Given the description of an element on the screen output the (x, y) to click on. 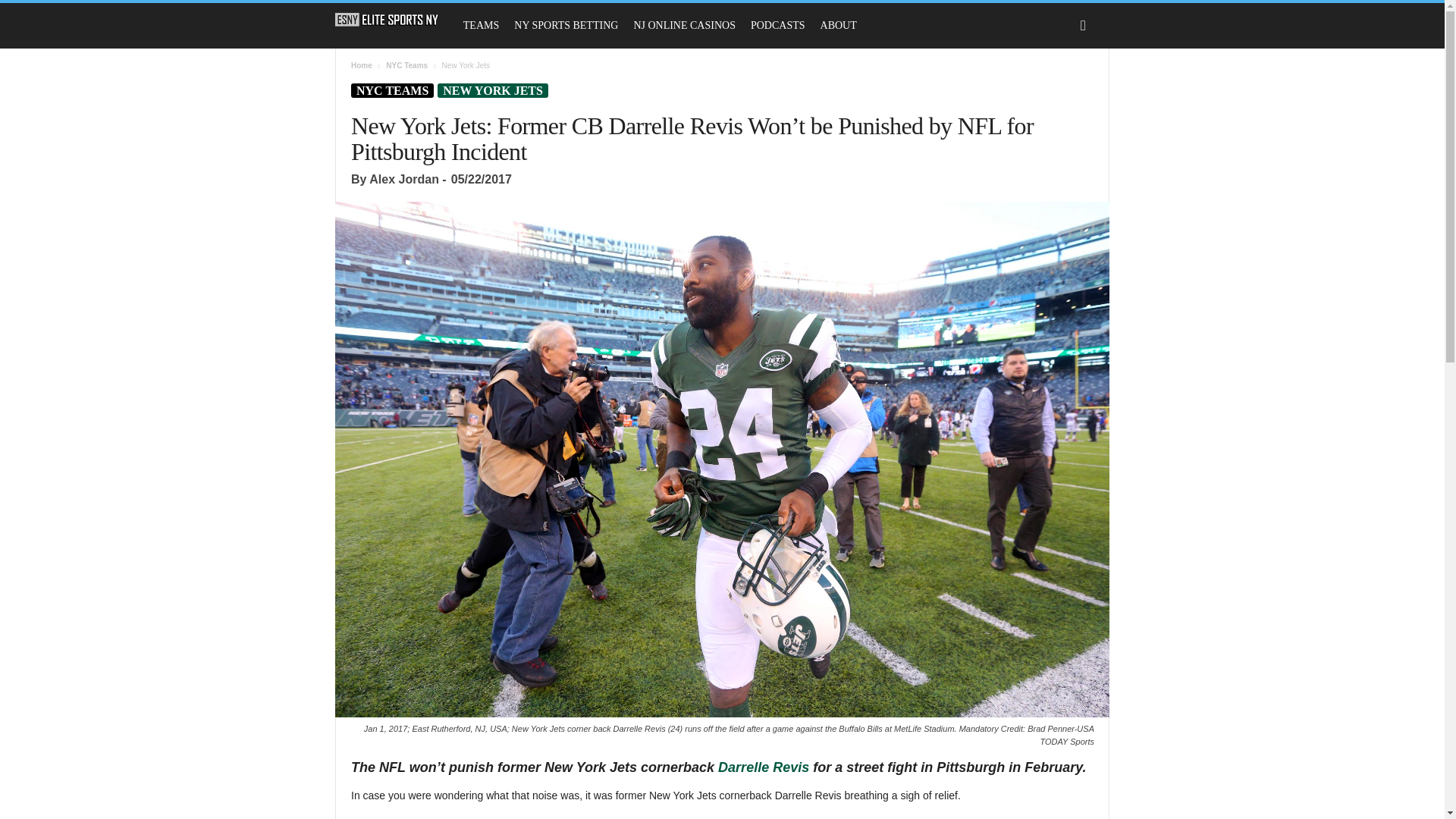
Elite Sports NY (386, 19)
View all posts in NYC Teams (406, 65)
Elite Sports NY (394, 19)
TEAMS (480, 25)
